Given the description of an element on the screen output the (x, y) to click on. 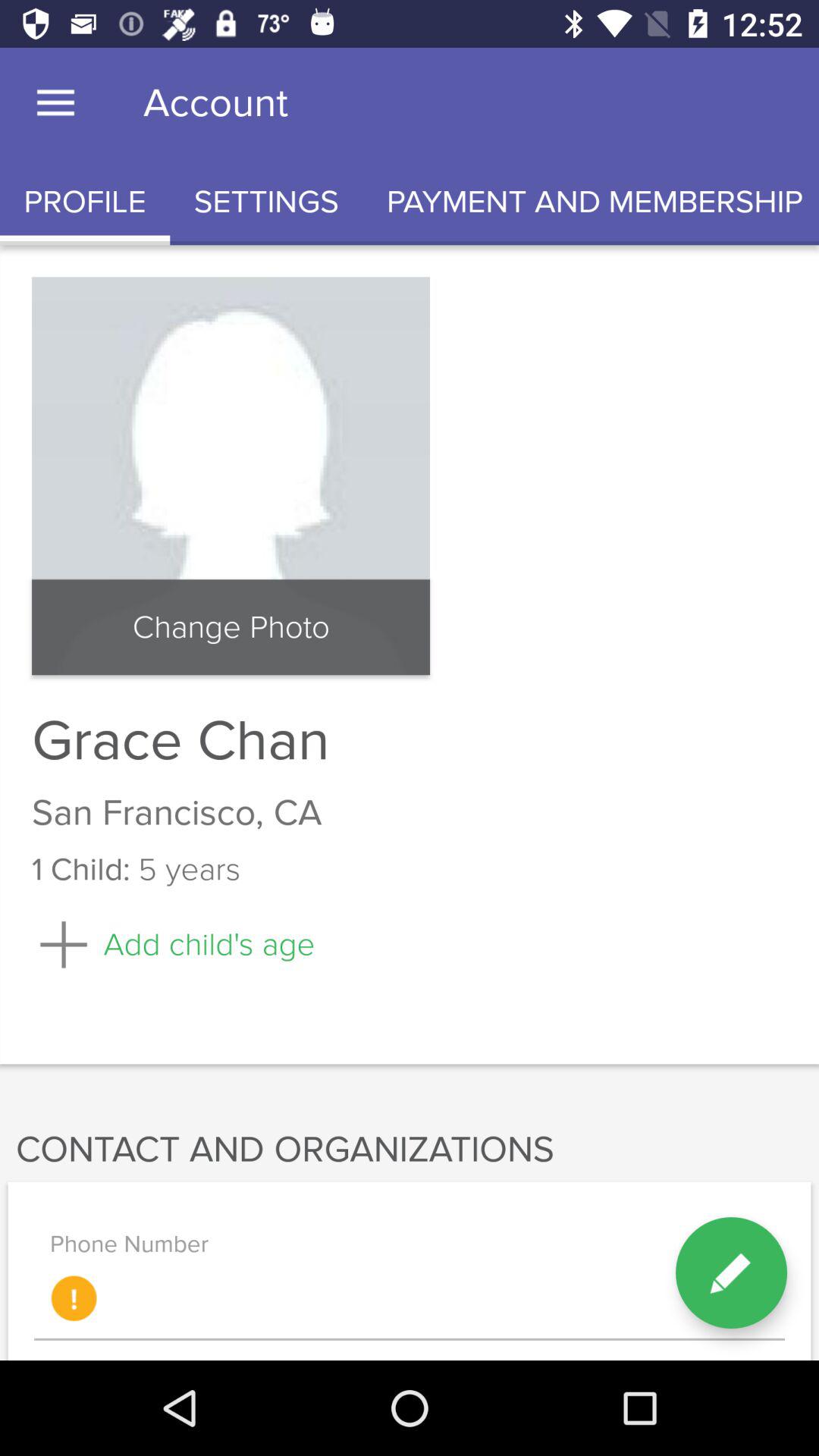
swipe until the add child s (173, 944)
